Given the description of an element on the screen output the (x, y) to click on. 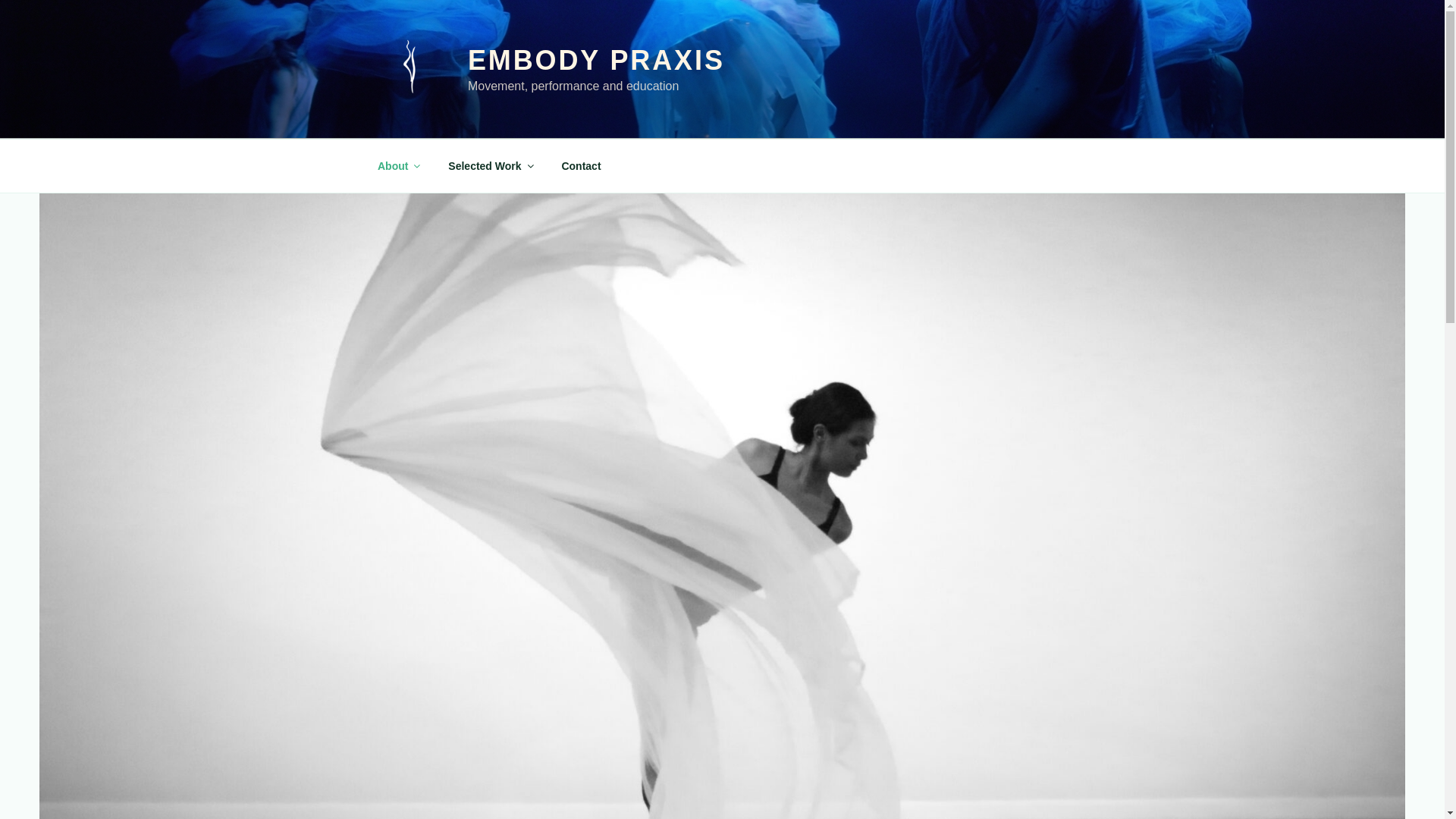
EMBODY PRAXIS (596, 60)
Contact (581, 165)
About (397, 165)
Selected Work (489, 165)
